Given the description of an element on the screen output the (x, y) to click on. 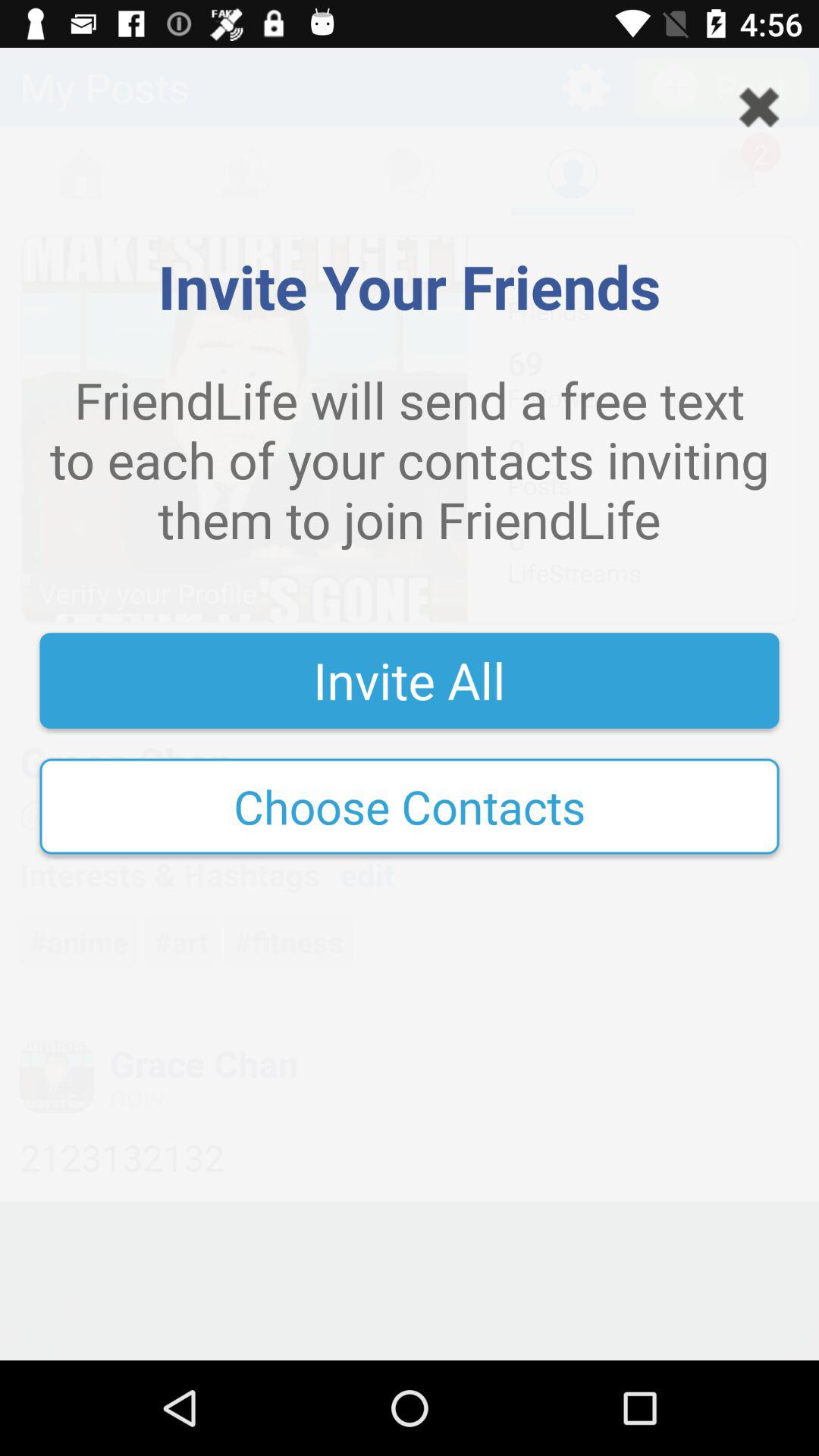
flip to choose contacts icon (409, 806)
